Given the description of an element on the screen output the (x, y) to click on. 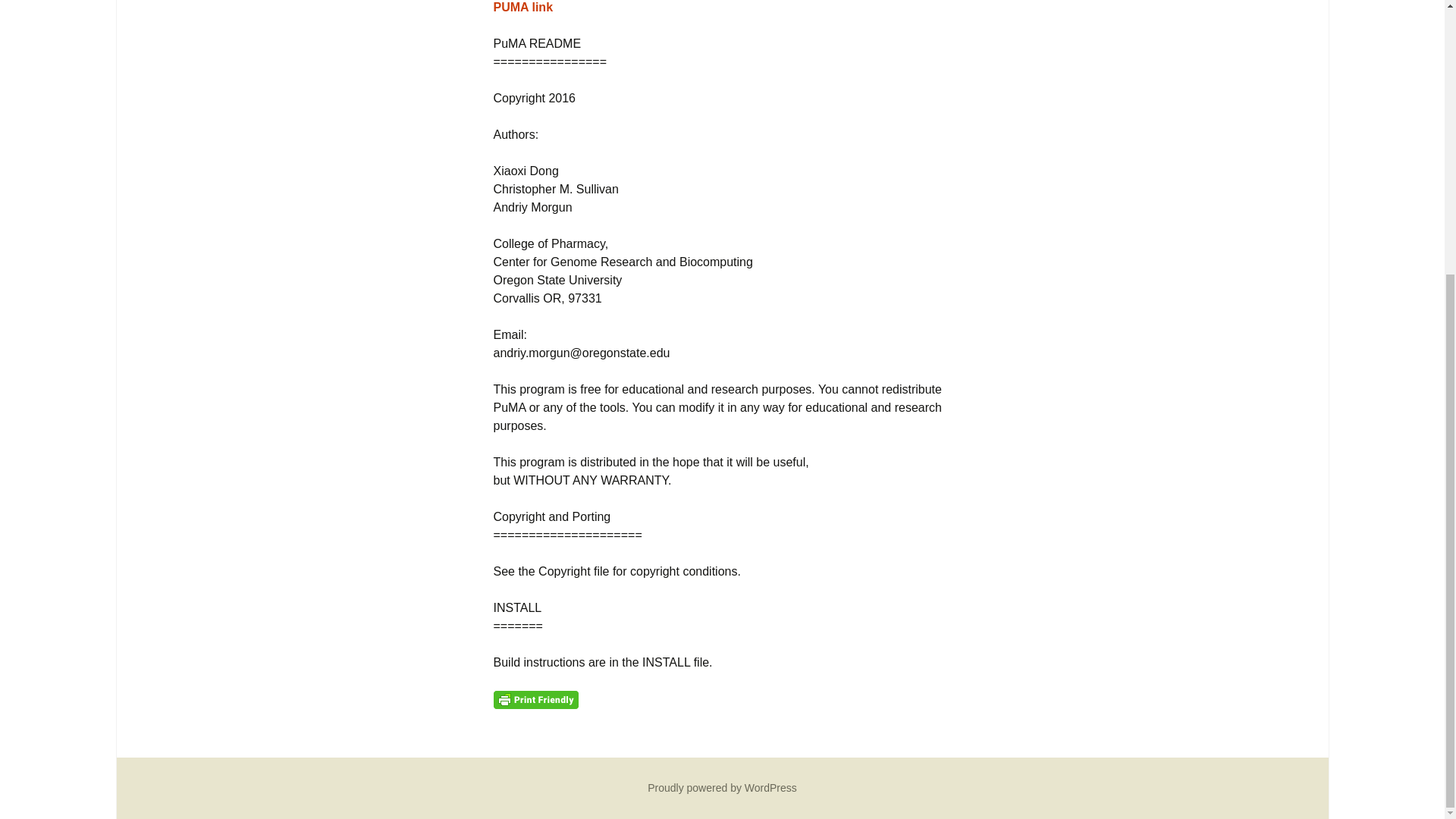
Proudly powered by WordPress (721, 787)
PUMA link (523, 6)
